Given the description of an element on the screen output the (x, y) to click on. 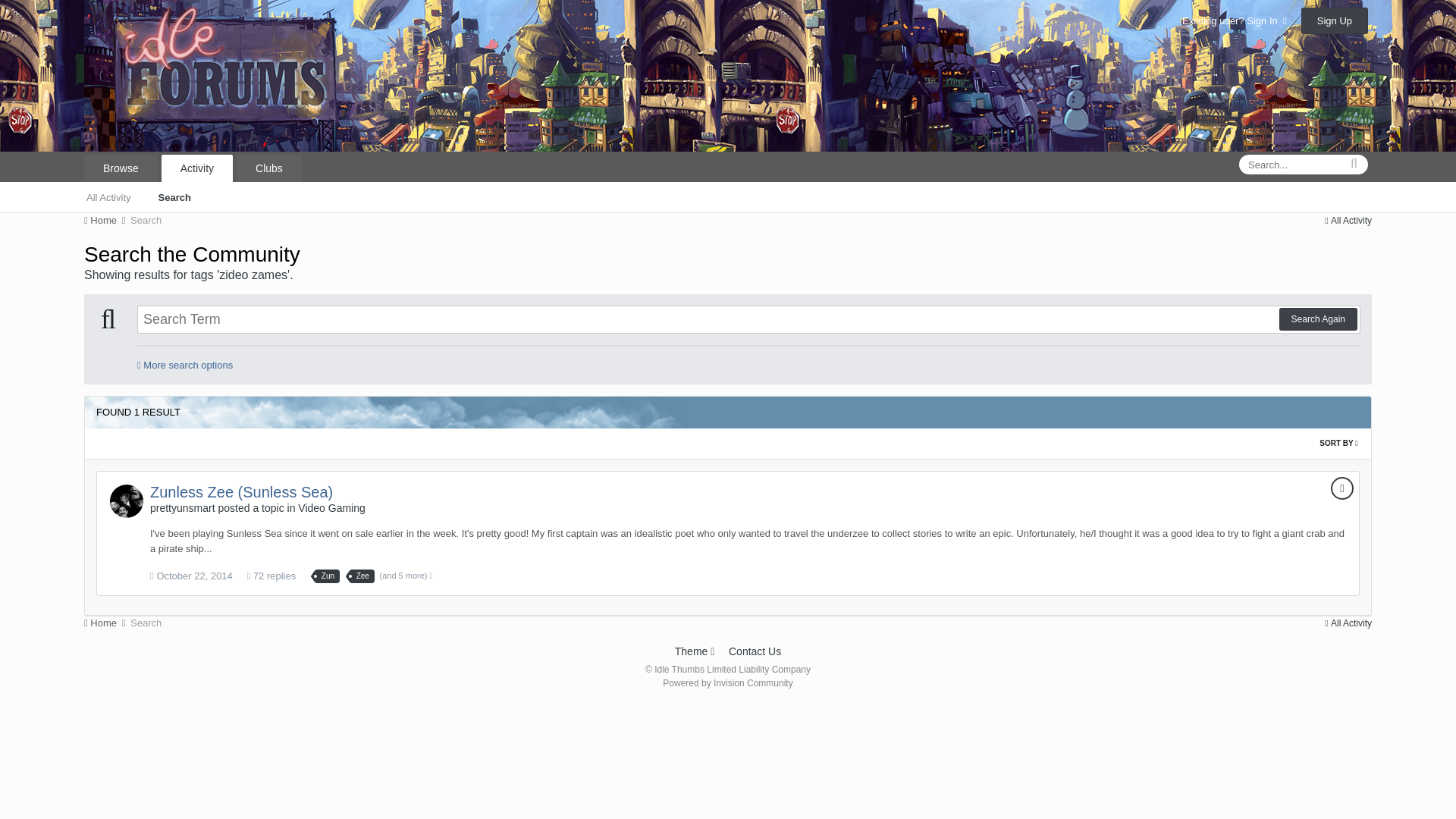
Clubs (268, 167)
Search (146, 220)
Sign Up (1334, 20)
Activity (196, 167)
Home (106, 220)
Topic (1342, 487)
Search (174, 195)
All Activity (108, 195)
Find other content tagged with 'Zun' (327, 576)
Find other content tagged with 'Zee' (362, 576)
More search options (184, 365)
Go to prettyunsmart's profile (126, 500)
Browse (120, 167)
Existing user? Sign In   (1234, 20)
Invision Community (727, 683)
